Given the description of an element on the screen output the (x, y) to click on. 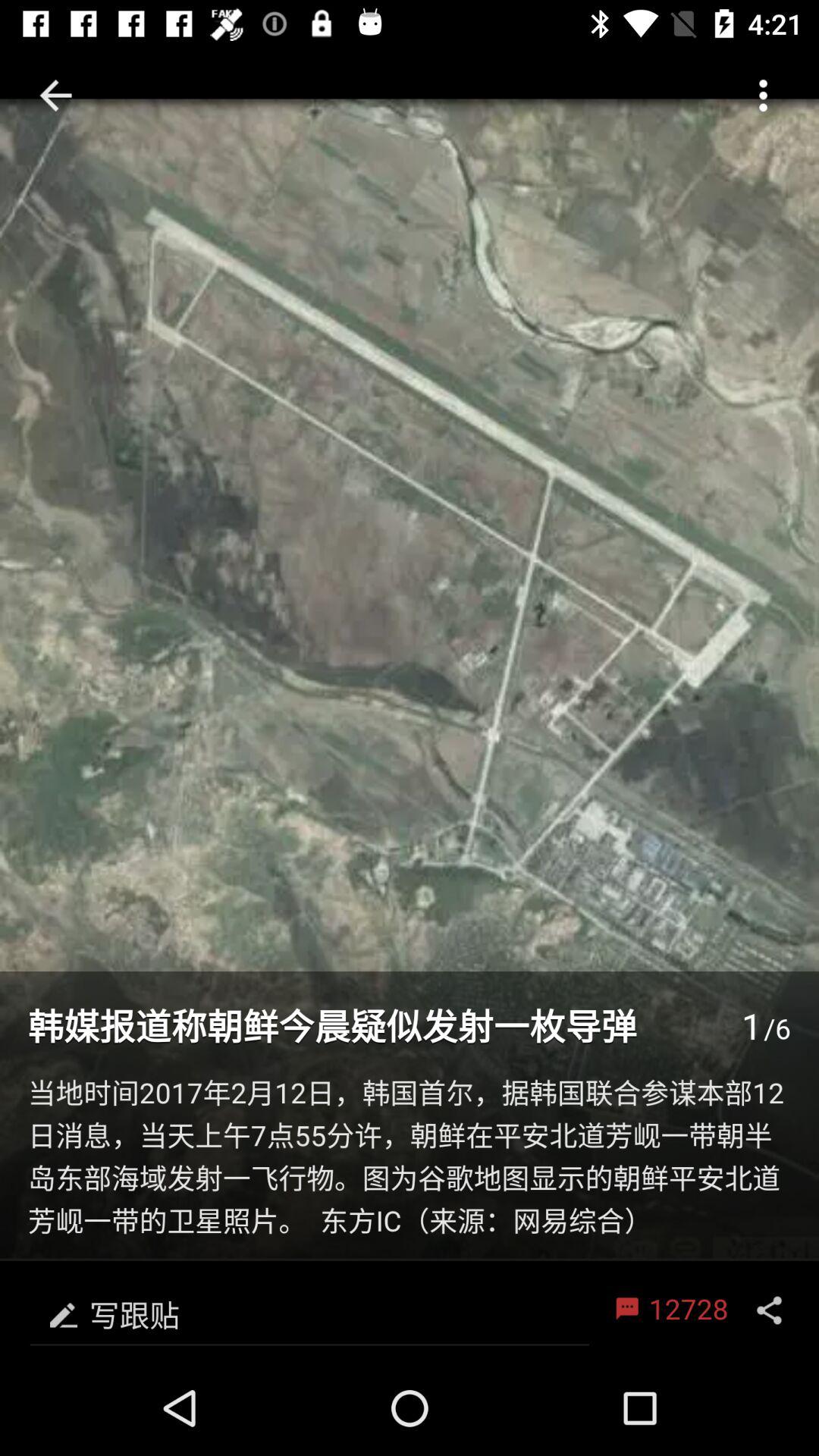
tap the icon below the 1 item (409, 1158)
